Given the description of an element on the screen output the (x, y) to click on. 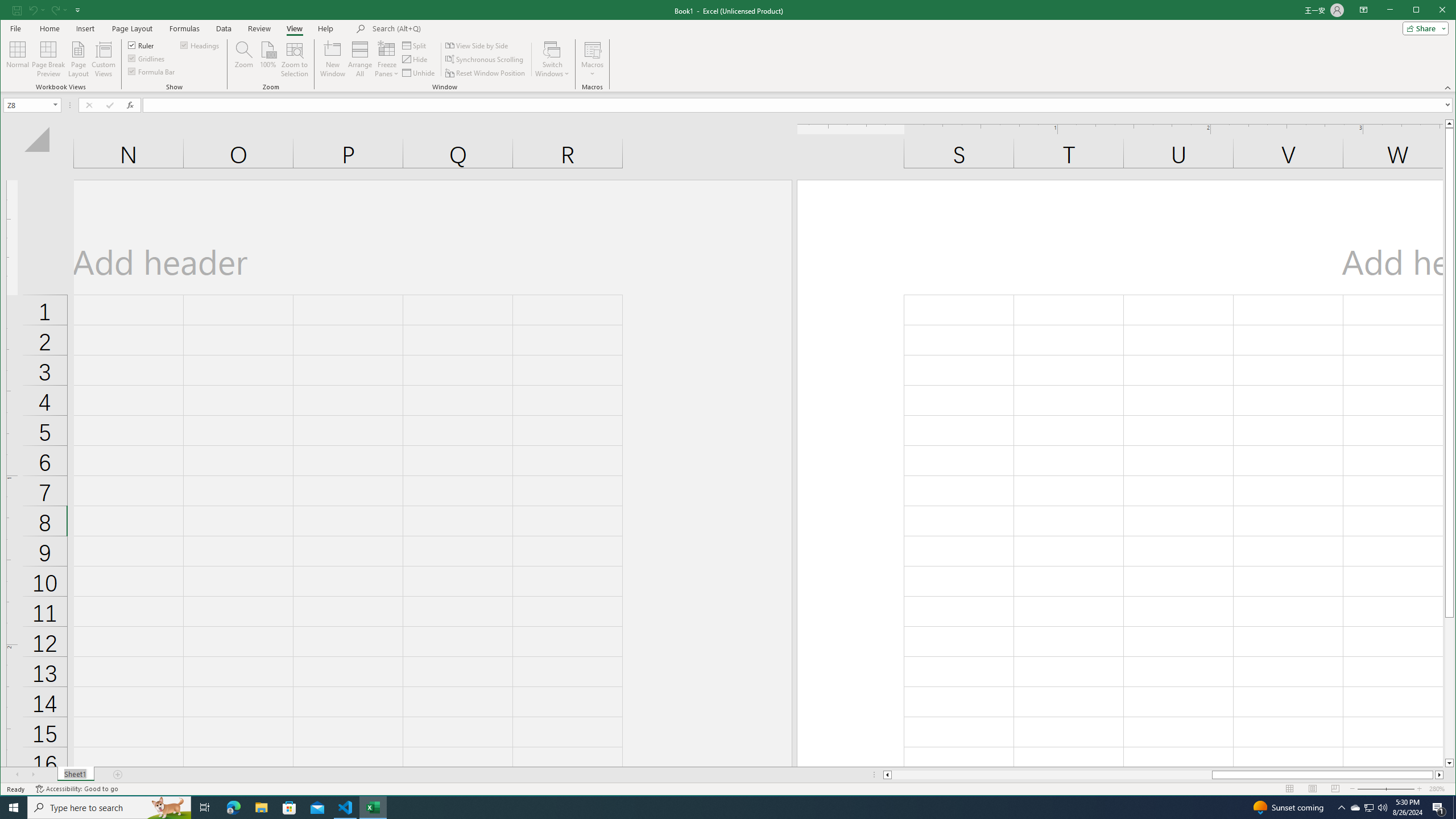
Split (414, 45)
Excel - 1 running window (373, 807)
Gridlines (147, 57)
Headings (200, 44)
Ruler (141, 44)
Sunset coming (1288, 807)
Running applications (717, 807)
